Given the description of an element on the screen output the (x, y) to click on. 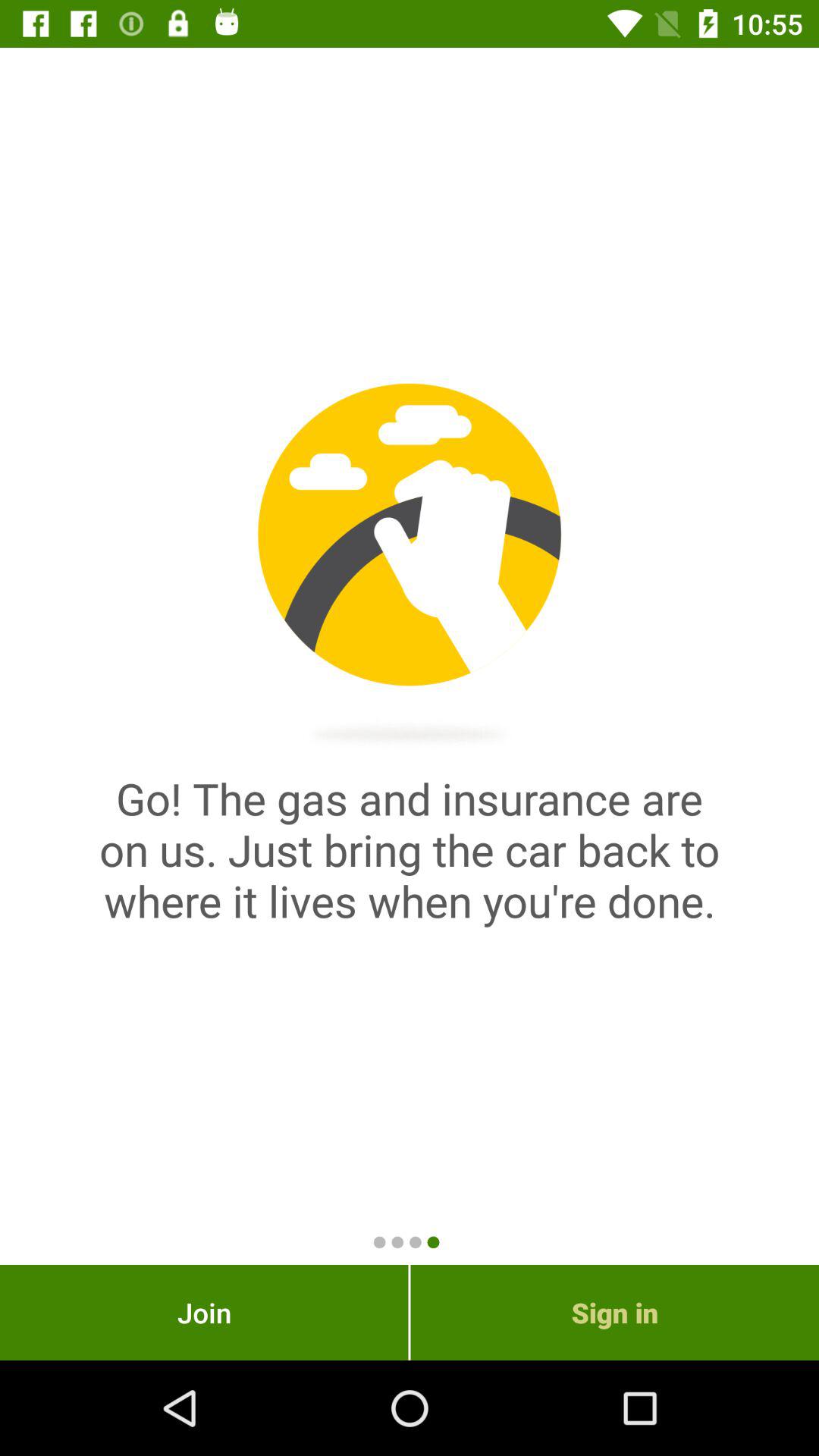
scroll to the sign in item (614, 1312)
